Given the description of an element on the screen output the (x, y) to click on. 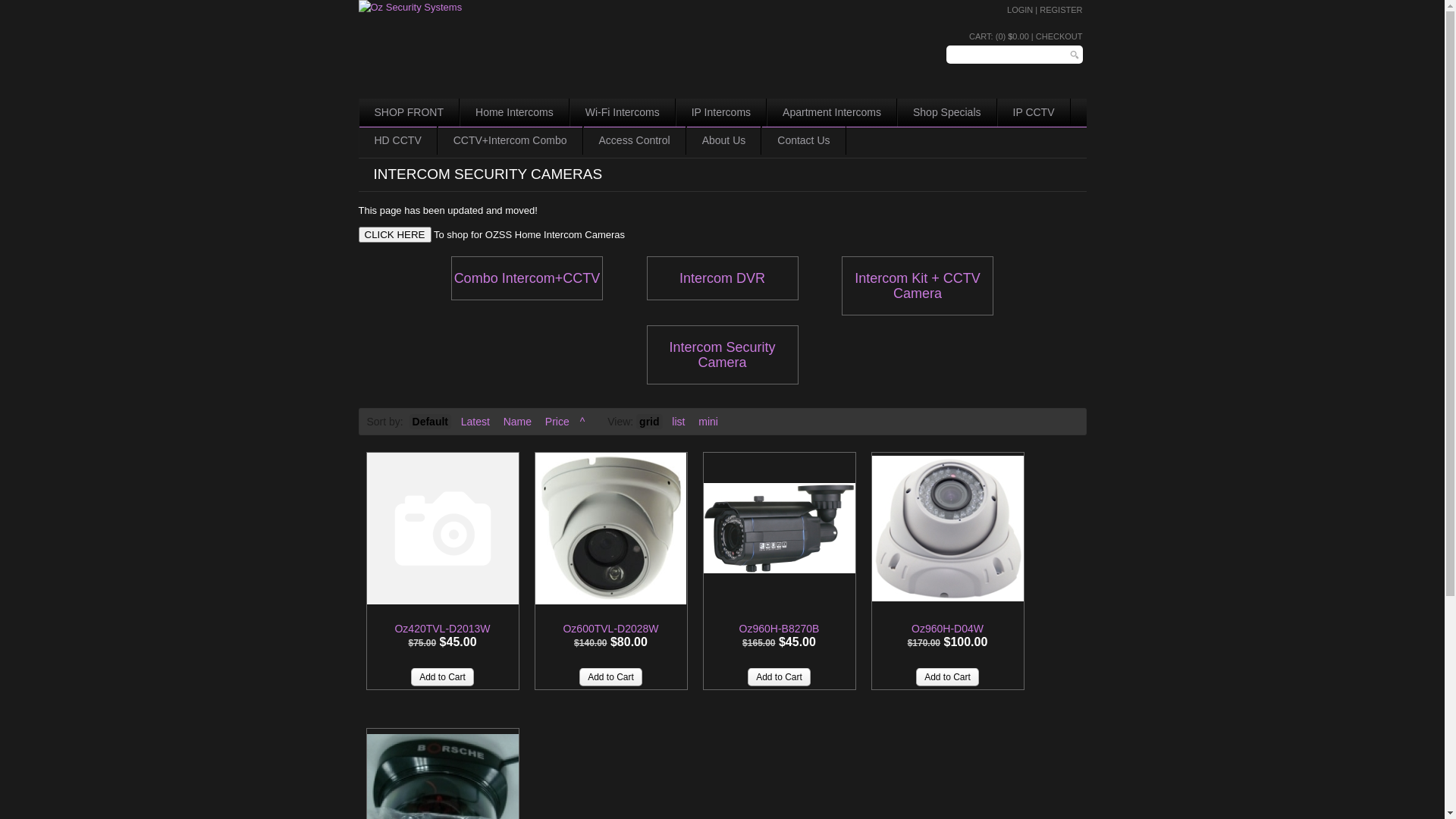
HD CCTV Element type: text (396, 140)
Oz960H-B8270B Element type: text (779, 628)
Oz600TVL-D2028W Element type: text (610, 628)
Combo Intercom+CCTV Element type: text (526, 278)
CCTV+Intercom Combo Element type: text (510, 140)
mini Element type: text (707, 421)
Apartment Intercoms Element type: text (831, 112)
Contact Us Element type: text (803, 140)
Oz960H-D04W Element type: text (947, 628)
Home Intercoms Element type: text (514, 112)
Oz960H-B8270B Element type: hover (779, 528)
Name Element type: text (517, 421)
Wi-Fi Intercoms Element type: text (622, 112)
Intercom Kit + CCTV Camera Element type: text (917, 285)
Oz600TVL-D2028W Element type: hover (611, 528)
Price Element type: text (557, 421)
Oz420TVL-D2013W Element type: text (441, 628)
About Us Element type: text (724, 140)
Intercom DVR Element type: text (721, 278)
Add to Cart Element type: text (442, 677)
REGISTER Element type: text (1060, 9)
Latest Element type: text (475, 421)
^ Element type: text (582, 421)
IP CCTV Element type: text (1033, 112)
CHECKOUT Element type: text (1058, 35)
CLICK HERE Element type: text (393, 234)
GO Element type: text (1074, 54)
list Element type: text (678, 421)
Default Element type: text (430, 421)
grid Element type: text (649, 421)
SHOP FRONT Element type: text (408, 112)
Access Control Element type: text (634, 140)
Shop Specials Element type: text (947, 112)
Intercom Security Camera Element type: text (721, 354)
IP Intercoms Element type: text (720, 112)
Oz420TVL-D2013W Element type: hover (442, 528)
Add to Cart Element type: text (778, 677)
Oz Security Systems Element type: hover (409, 7)
Add to Cart Element type: text (947, 677)
Oz960H-D04W Element type: hover (947, 528)
CART: (0) $0.00 Element type: text (999, 35)
LOGIN Element type: text (1019, 9)
Add to Cart Element type: text (610, 677)
